Given the description of an element on the screen output the (x, y) to click on. 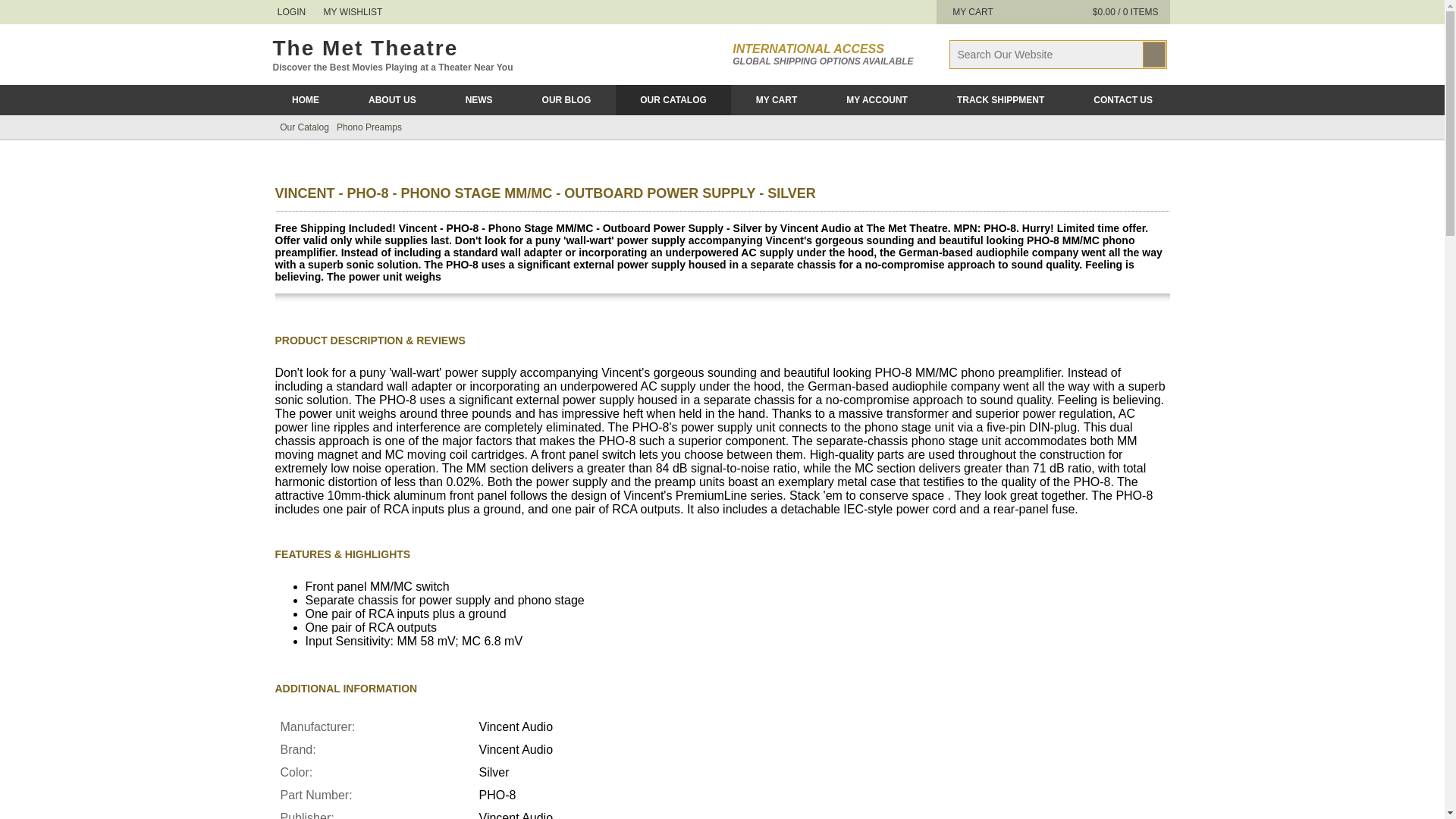
 LOGIN (290, 11)
HOME (304, 100)
  MY WISHLIST (349, 11)
MY ACCOUNT (877, 100)
CONTACT US (1122, 100)
OUR CATALOG (673, 100)
Our Catalog (304, 127)
  MY CART (969, 11)
Phono Preamps (368, 127)
ABOUT US (392, 100)
NEWS (478, 100)
MY CART (775, 100)
TRACK SHIPPMENT (999, 100)
OUR BLOG (565, 100)
